Given the description of an element on the screen output the (x, y) to click on. 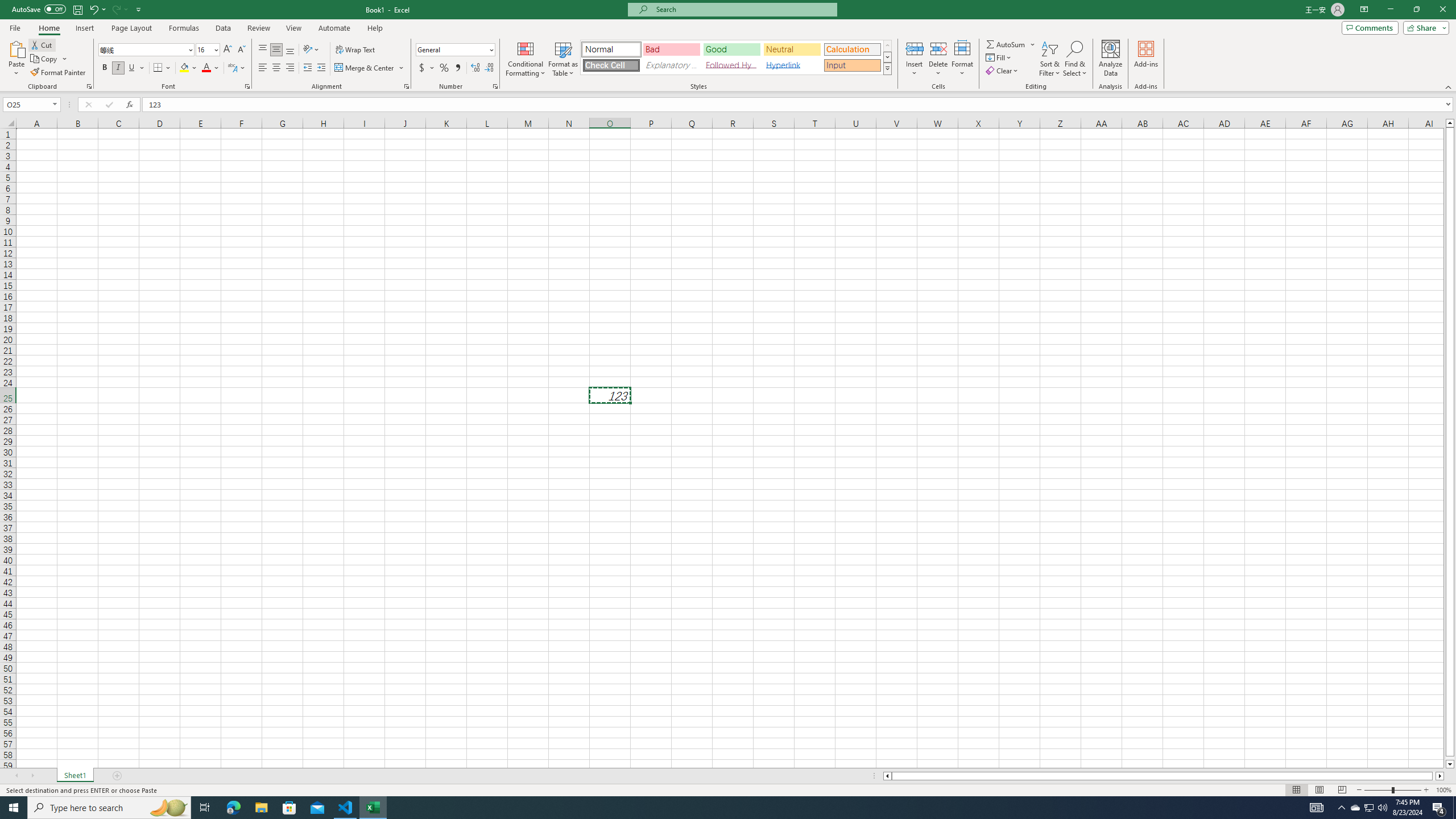
Delete (938, 58)
Middle Align (276, 49)
Show Phonetic Field (231, 67)
Neutral (791, 49)
Accounting Number Format (426, 67)
Bold (104, 67)
